Given the description of an element on the screen output the (x, y) to click on. 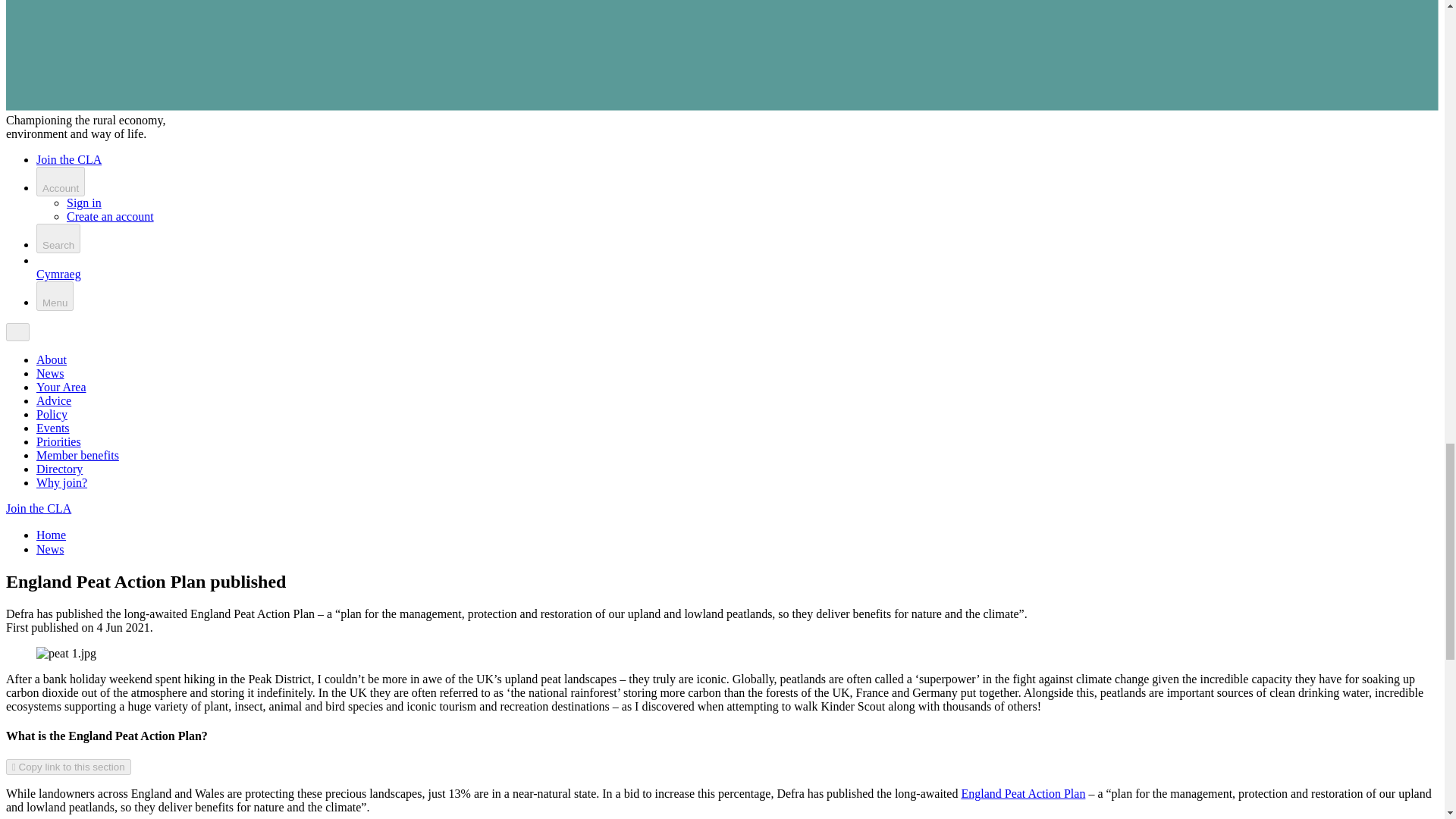
Join the CLA (38, 508)
Directory (59, 468)
Create an account (110, 215)
Sign in (83, 202)
Member benefits (77, 454)
Priorities (58, 440)
Join the CLA (68, 159)
Why join? (61, 481)
Advice (53, 400)
England Peat Action Plan (1022, 793)
About (51, 359)
Policy (51, 413)
Events (52, 427)
News (50, 549)
Your Area (60, 386)
